Given the description of an element on the screen output the (x, y) to click on. 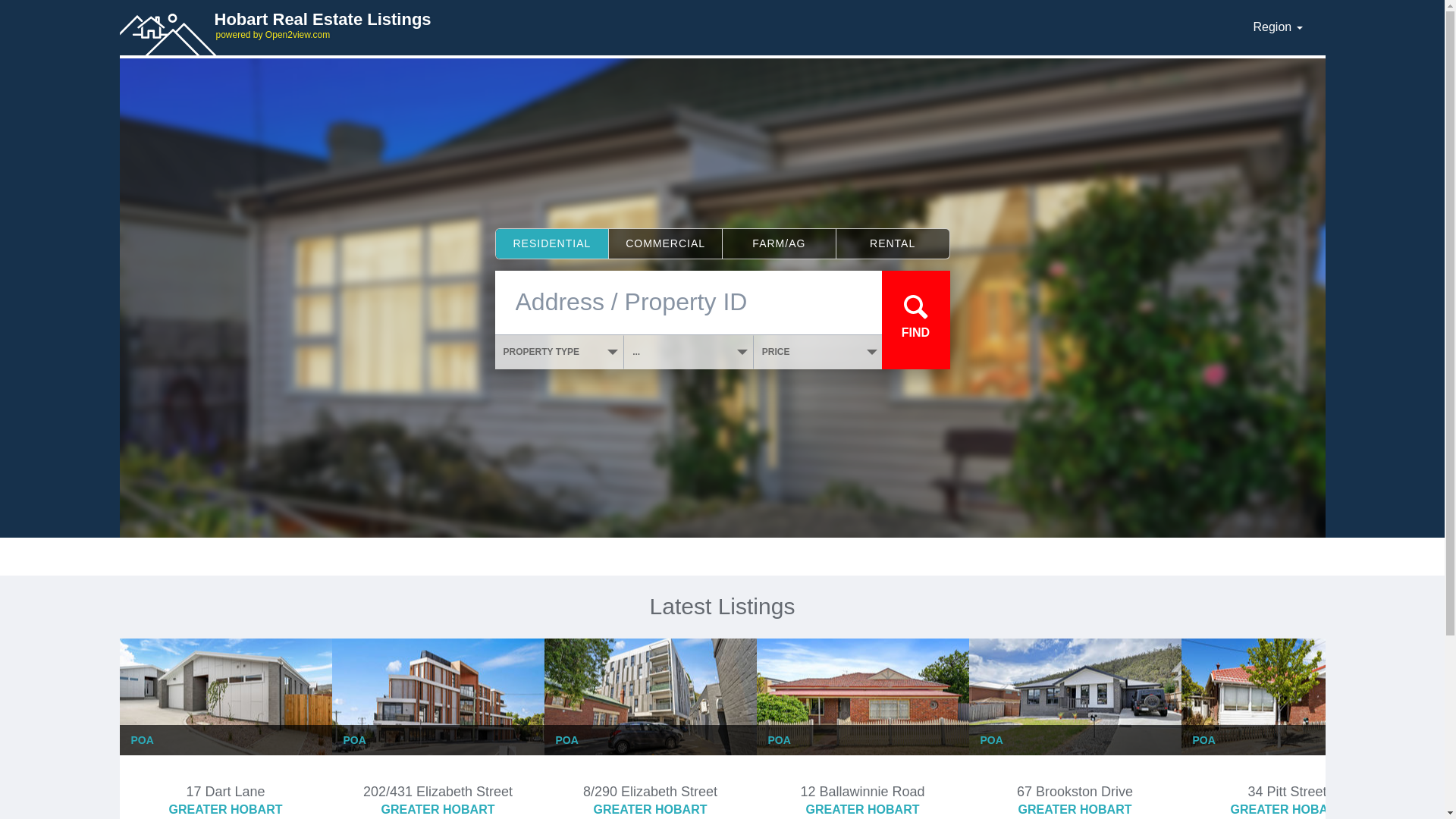
Property #853551 Element type: hover (1286, 775)
Property #852814 Element type: hover (1074, 775)
Property #853847 Element type: hover (862, 775)
PRICE Element type: text (817, 352)
Hobart Real Estate Listings
powered by Open2view.com Element type: text (676, 25)
... Element type: text (688, 352)
PROPERTY TYPE Element type: text (559, 352)
Property #853334 Element type: hover (437, 775)
Property #853559 Element type: hover (649, 775)
Property #853746 Element type: hover (225, 775)
